Given the description of an element on the screen output the (x, y) to click on. 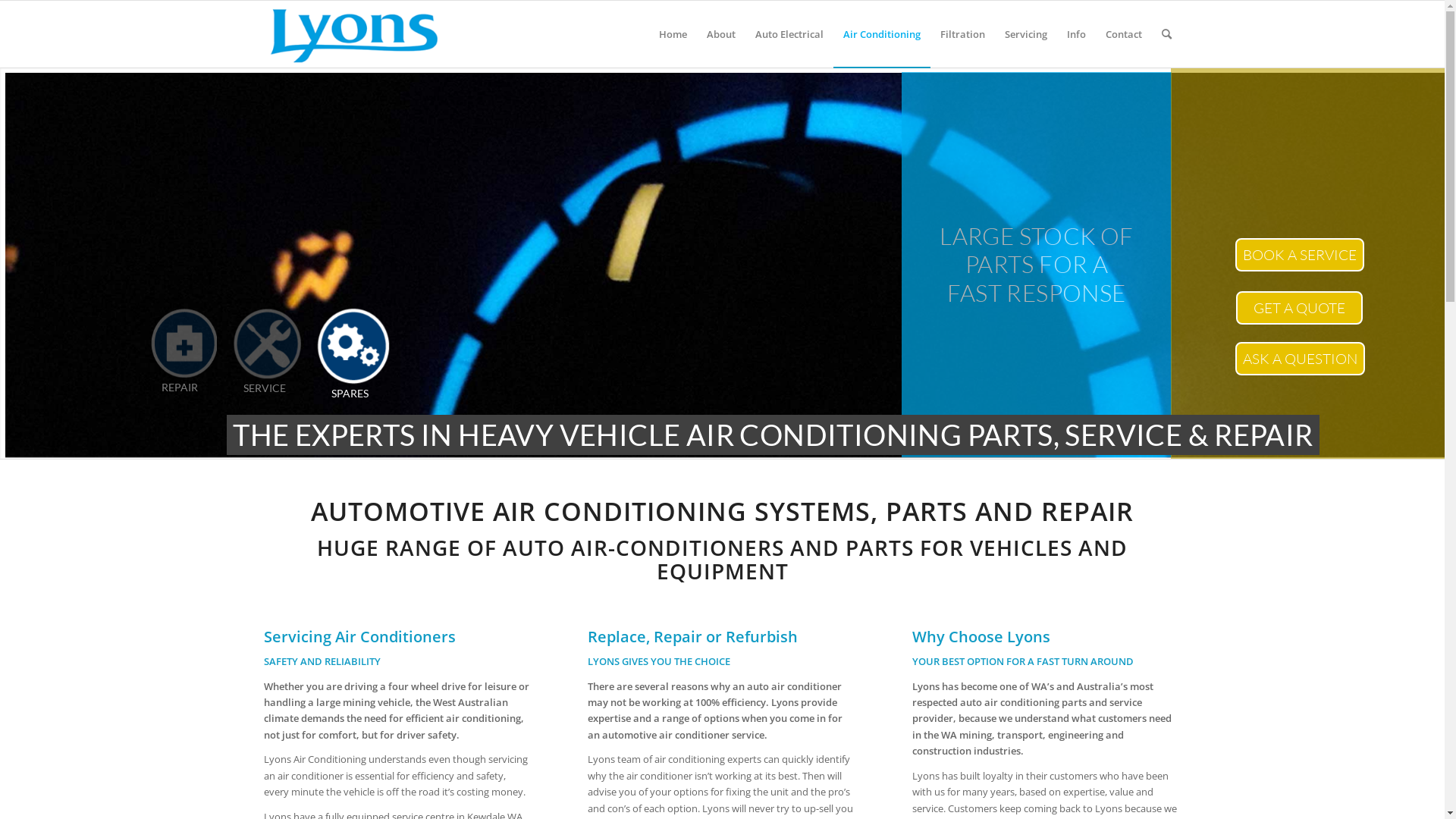
Air Conditioning Element type: text (880, 33)
Servicing Element type: text (1025, 33)
Auto Electrical Element type: text (788, 33)
Info Element type: text (1076, 33)
About Element type: text (720, 33)
Filtration Element type: text (961, 33)
Home Element type: text (672, 33)
Contact Element type: text (1123, 33)
